Given the description of an element on the screen output the (x, y) to click on. 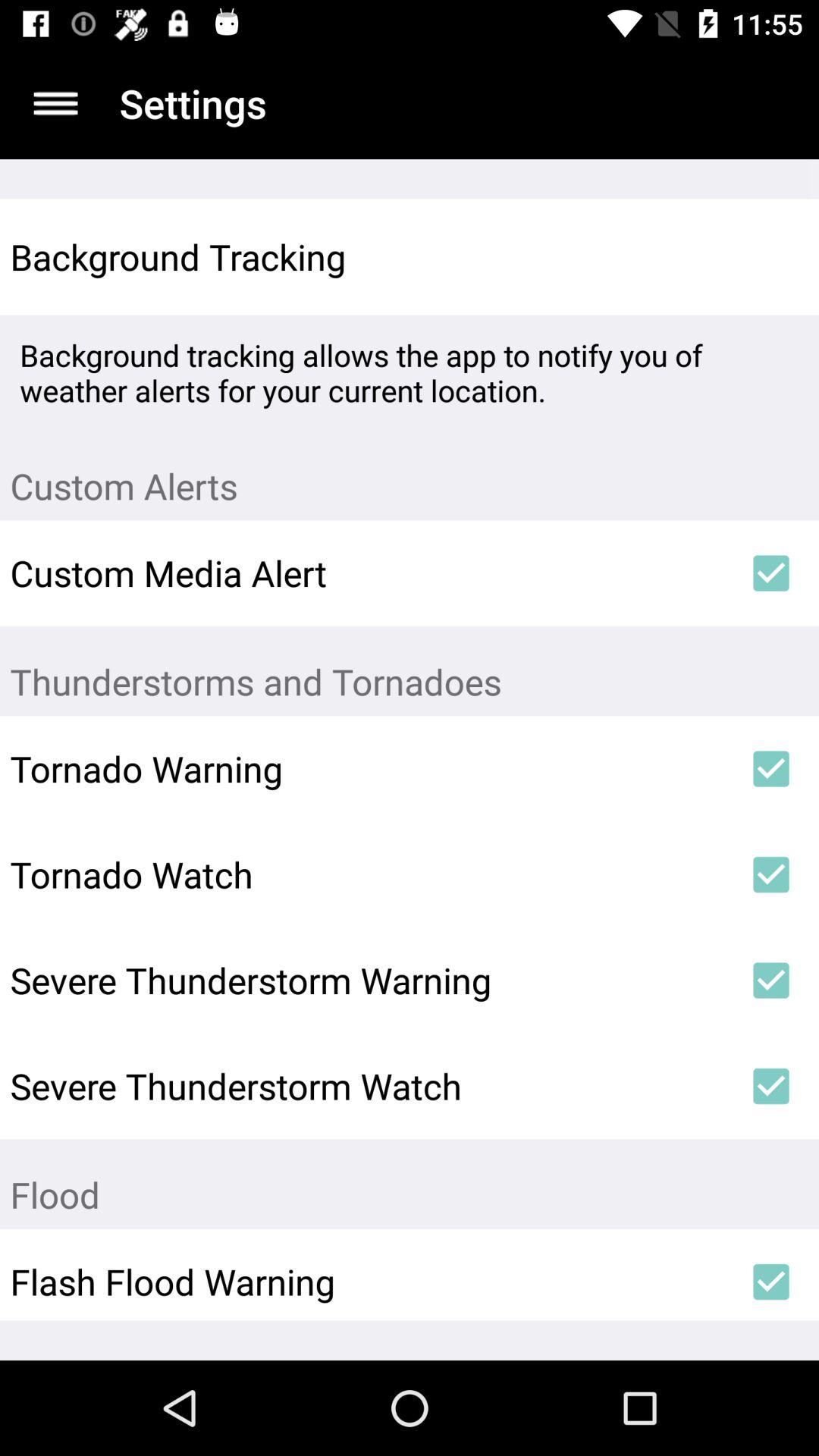
select the item next to severe thunderstorm watch item (771, 1086)
